Given the description of an element on the screen output the (x, y) to click on. 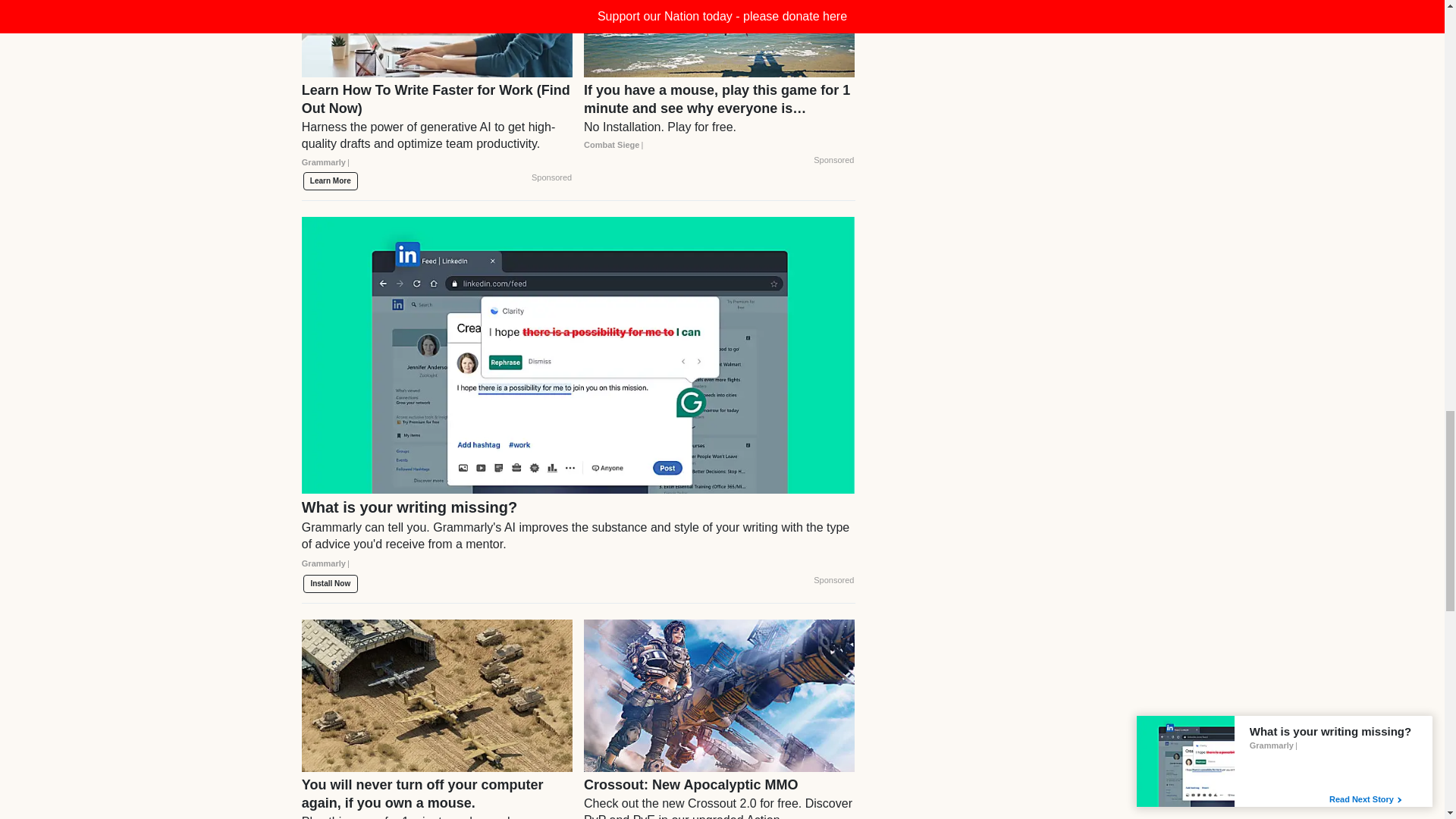
Learn More (330, 180)
What is your writing missing? (578, 540)
Sponsored (833, 160)
Sponsored (551, 177)
